Given the description of an element on the screen output the (x, y) to click on. 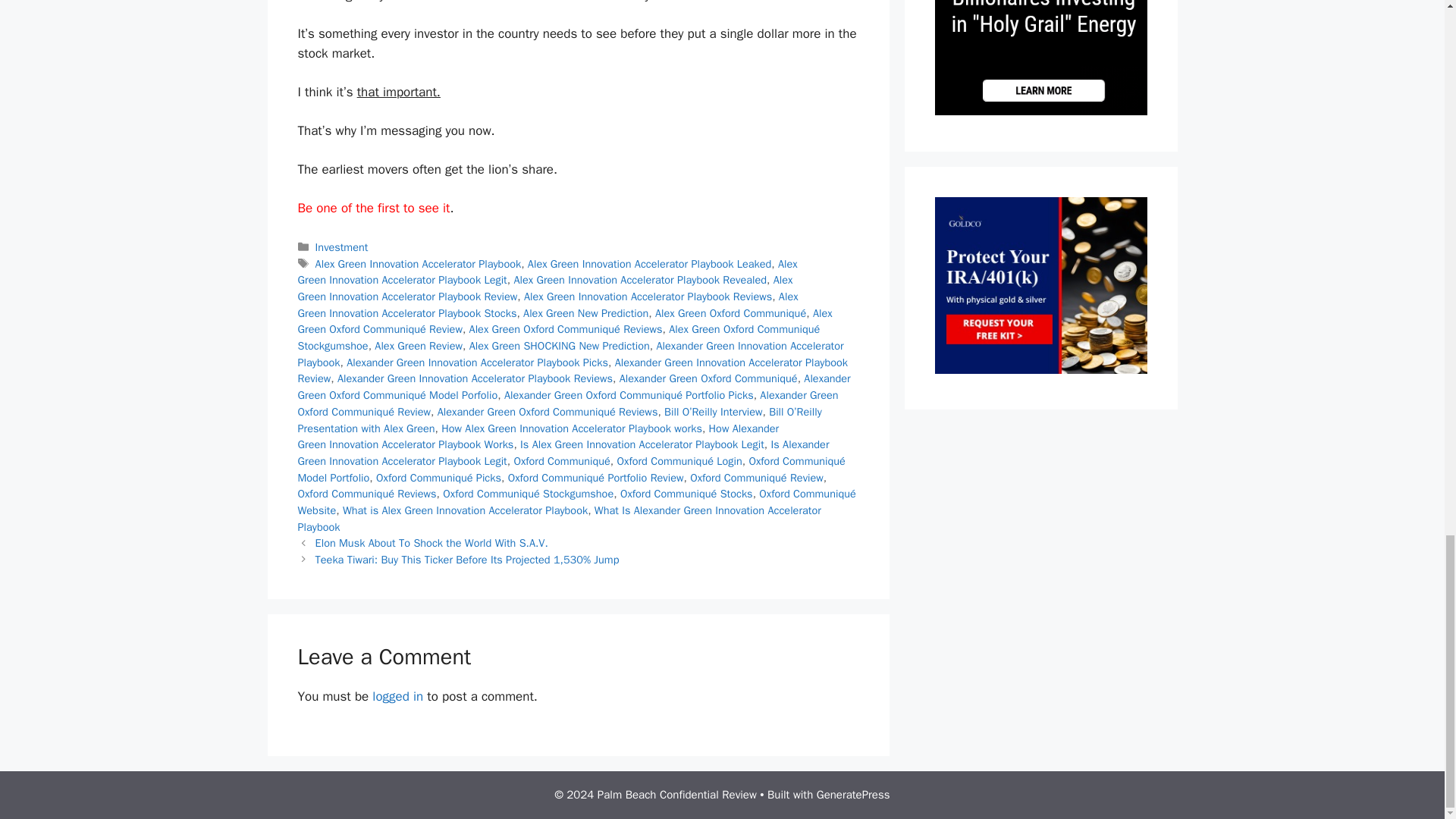
Alex Green Innovation Accelerator Playbook Review (544, 287)
Alex Green Innovation Accelerator Playbook Stocks (547, 304)
Alexander Green Innovation Accelerator Playbook Picks (477, 362)
Alexander Green Innovation Accelerator Playbook Review (572, 370)
Investment (341, 246)
Alex Green Review (418, 345)
Alexander Green Innovation Accelerator Playbook (570, 354)
Porter Stansberry Energy Grid (1040, 110)
Be one of the first to see it (373, 207)
Alexander Green Innovation Accelerator Playbook Reviews (474, 377)
Alex Green Innovation Accelerator Playbook Revealed (640, 279)
FREE 2024 GOLD IRA KIT (1040, 369)
Alex Green Innovation Accelerator Playbook Legit (546, 272)
Alex Green New Prediction (584, 313)
Alex Green Innovation Accelerator Playbook (418, 264)
